Given the description of an element on the screen output the (x, y) to click on. 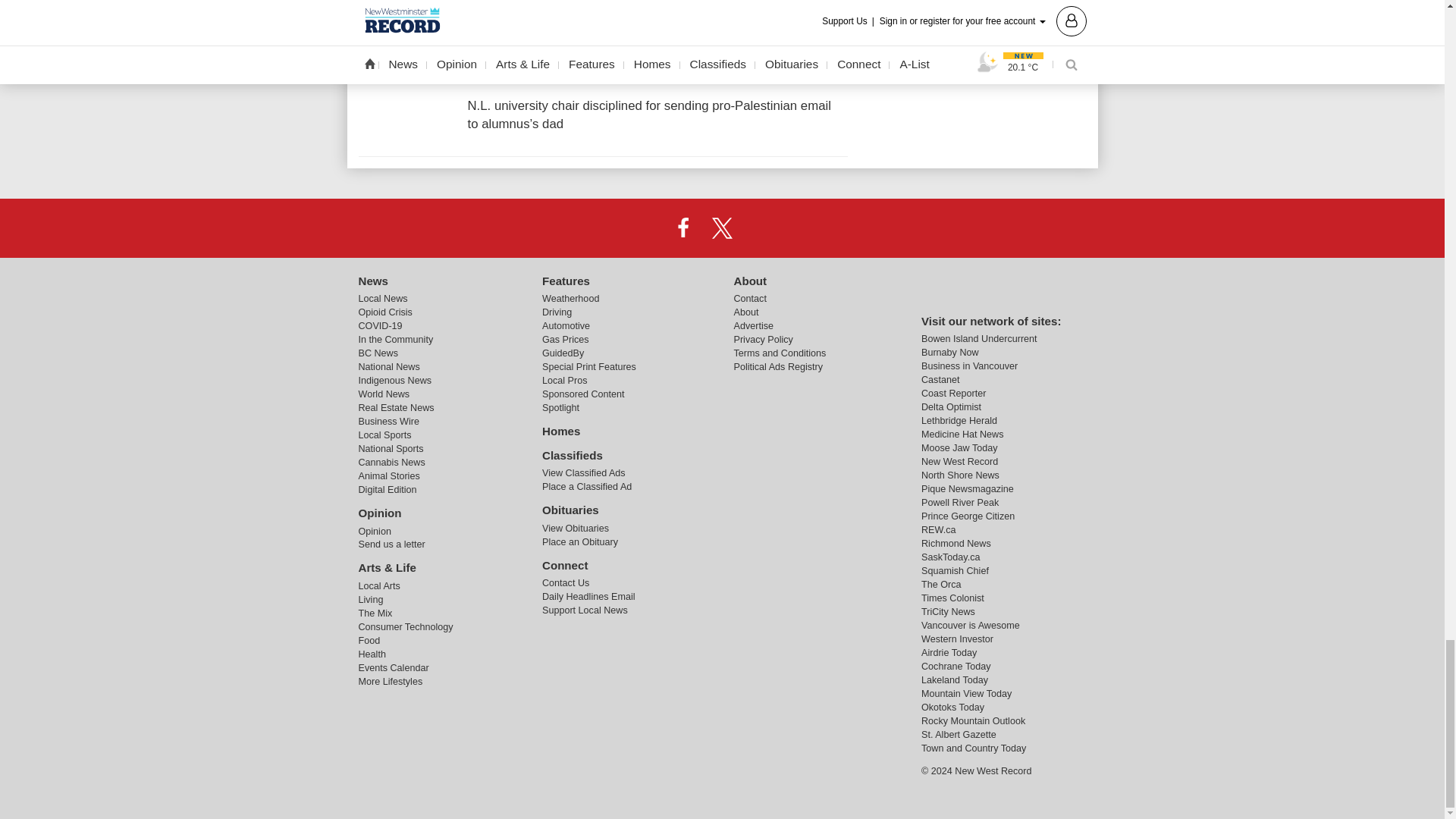
Facebook (683, 226)
Instagram (760, 226)
X (721, 226)
